Given the description of an element on the screen output the (x, y) to click on. 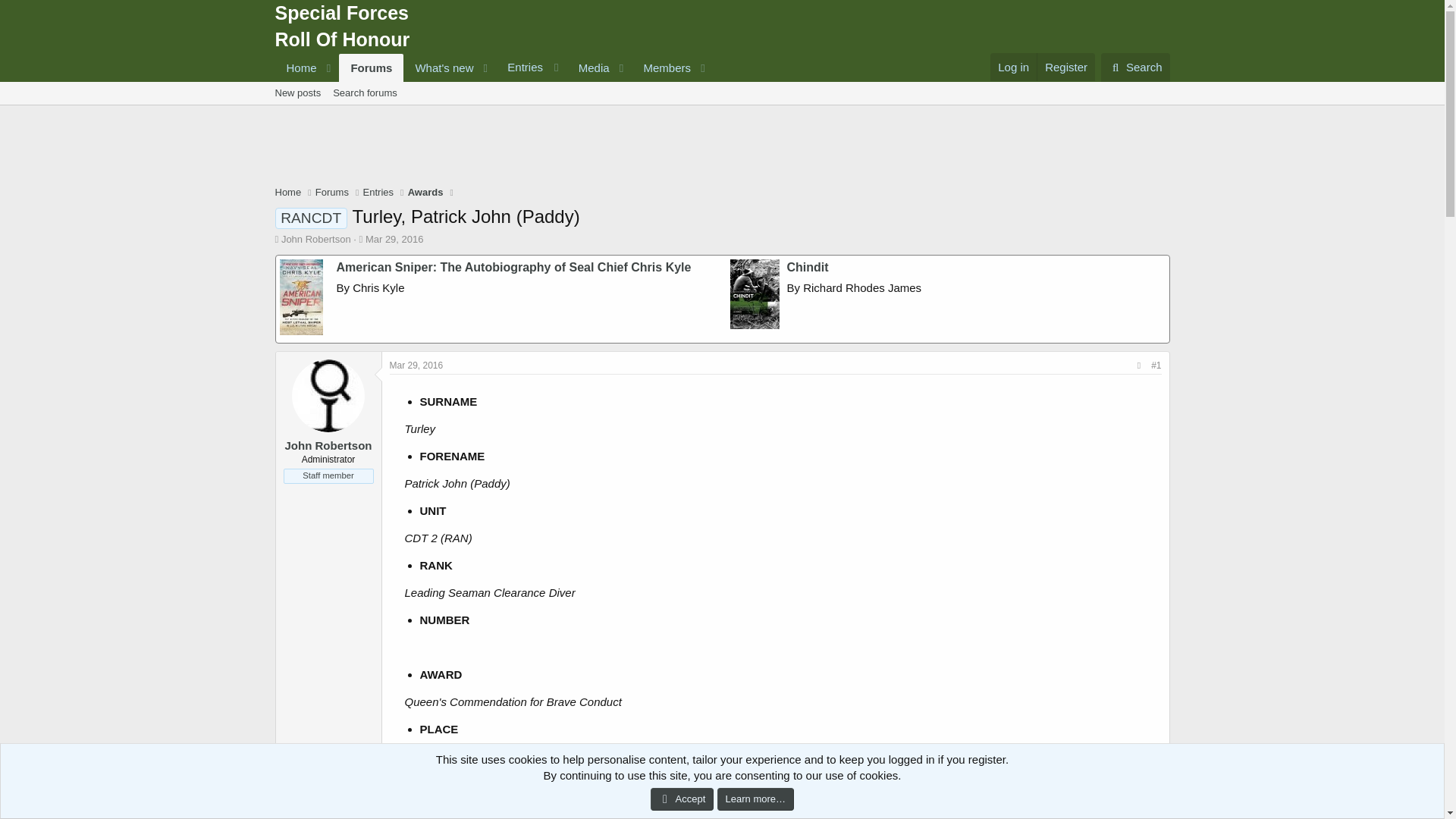
Register (1065, 67)
Members (493, 84)
Entries (662, 67)
Search (531, 67)
Log in (1135, 67)
Mar 29, 2016 at 11:01 PM (1013, 67)
Forums (342, 28)
